Given the description of an element on the screen output the (x, y) to click on. 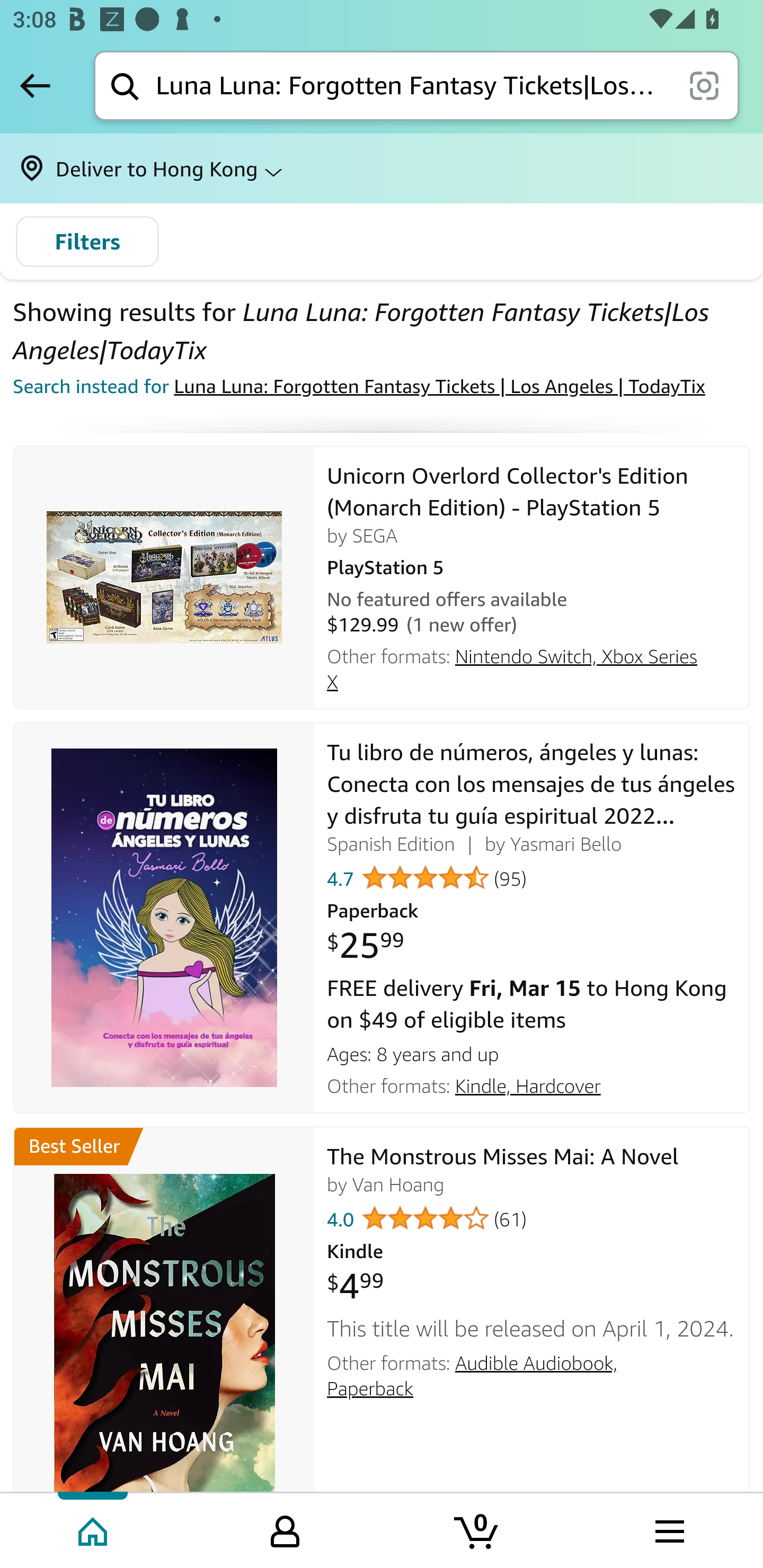
Back (35, 85)
scan it (704, 85)
Deliver to Hong Kong ⌵ (381, 168)
Filters (87, 241)
PlayStation 5 (532, 564)
Ages: 8 years and up (532, 1050)
Home Tab 1 of 4 (94, 1529)
Your Amazon.com Tab 2 of 4 (285, 1529)
Cart 0 item Tab 3 of 4 0 (477, 1529)
Browse menu Tab 4 of 4 (668, 1529)
